Given the description of an element on the screen output the (x, y) to click on. 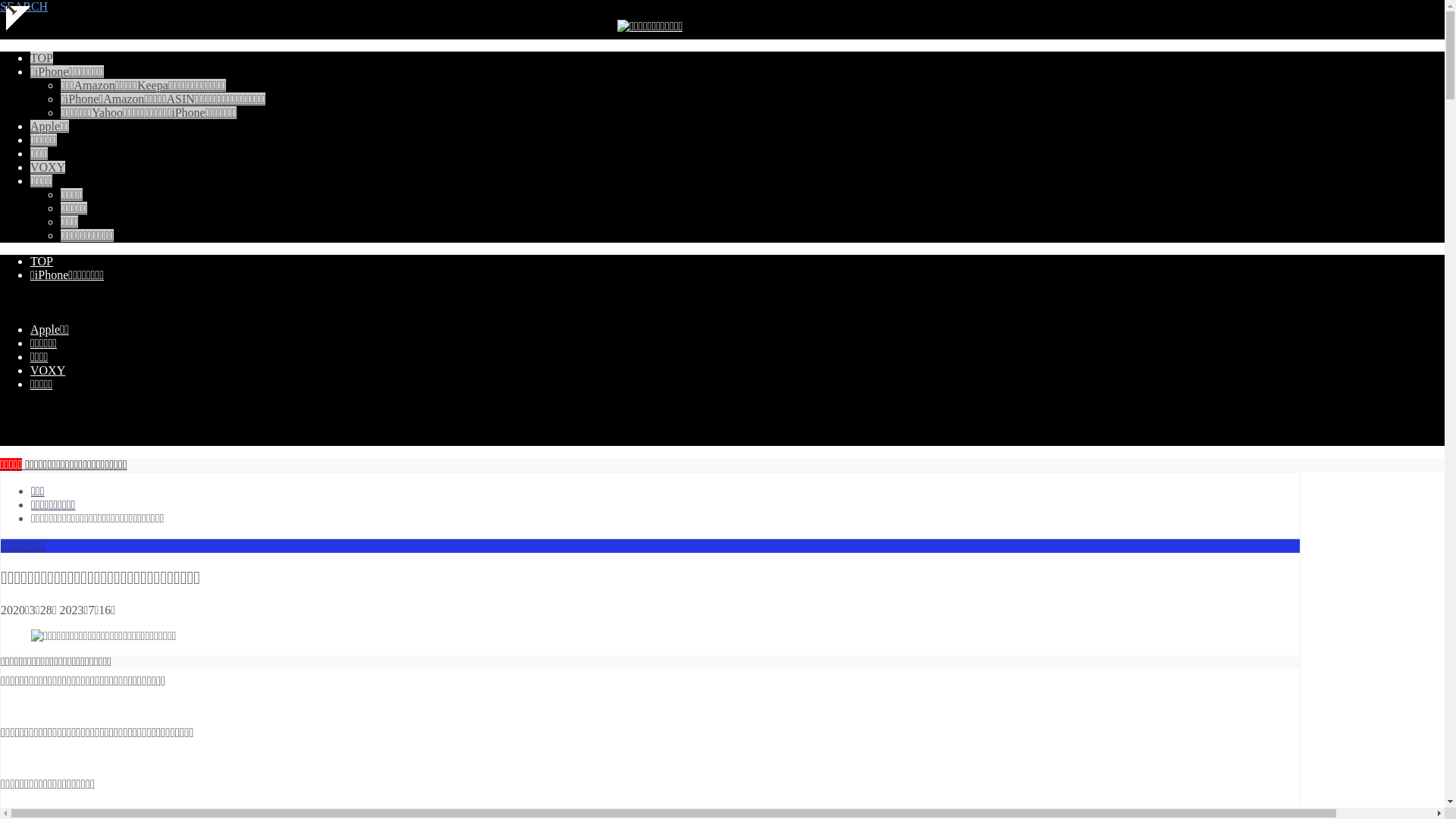
TOP Element type: text (41, 57)
SEARCH Element type: text (650, 6)
TOP Element type: text (41, 260)
VOXY Element type: text (47, 166)
VOXY Element type: text (47, 370)
